Given the description of an element on the screen output the (x, y) to click on. 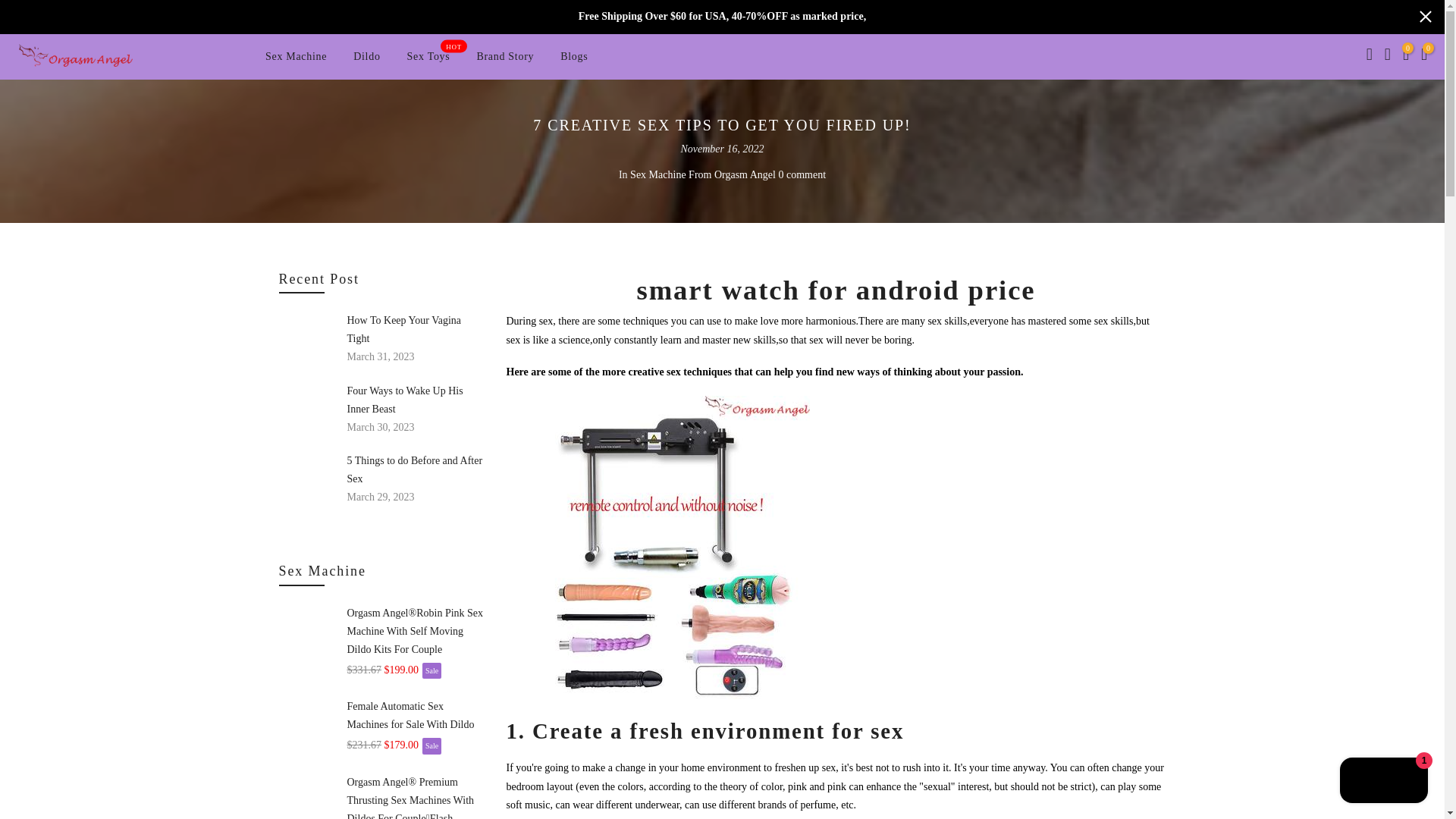
Brand Story (505, 55)
sex machine orgasm (657, 546)
0 (1405, 55)
Four Ways to Wake Up His Inner Beast (428, 55)
5 Things to do Before and After Sex (415, 400)
0 comment (415, 470)
Dildo (801, 174)
Blogs (366, 55)
Sex Machine From Orgasm Angel (574, 55)
How To Keep Your Vagina Tight (703, 174)
Sex Machine (415, 330)
Shopify online store chat (295, 55)
